Given the description of an element on the screen output the (x, y) to click on. 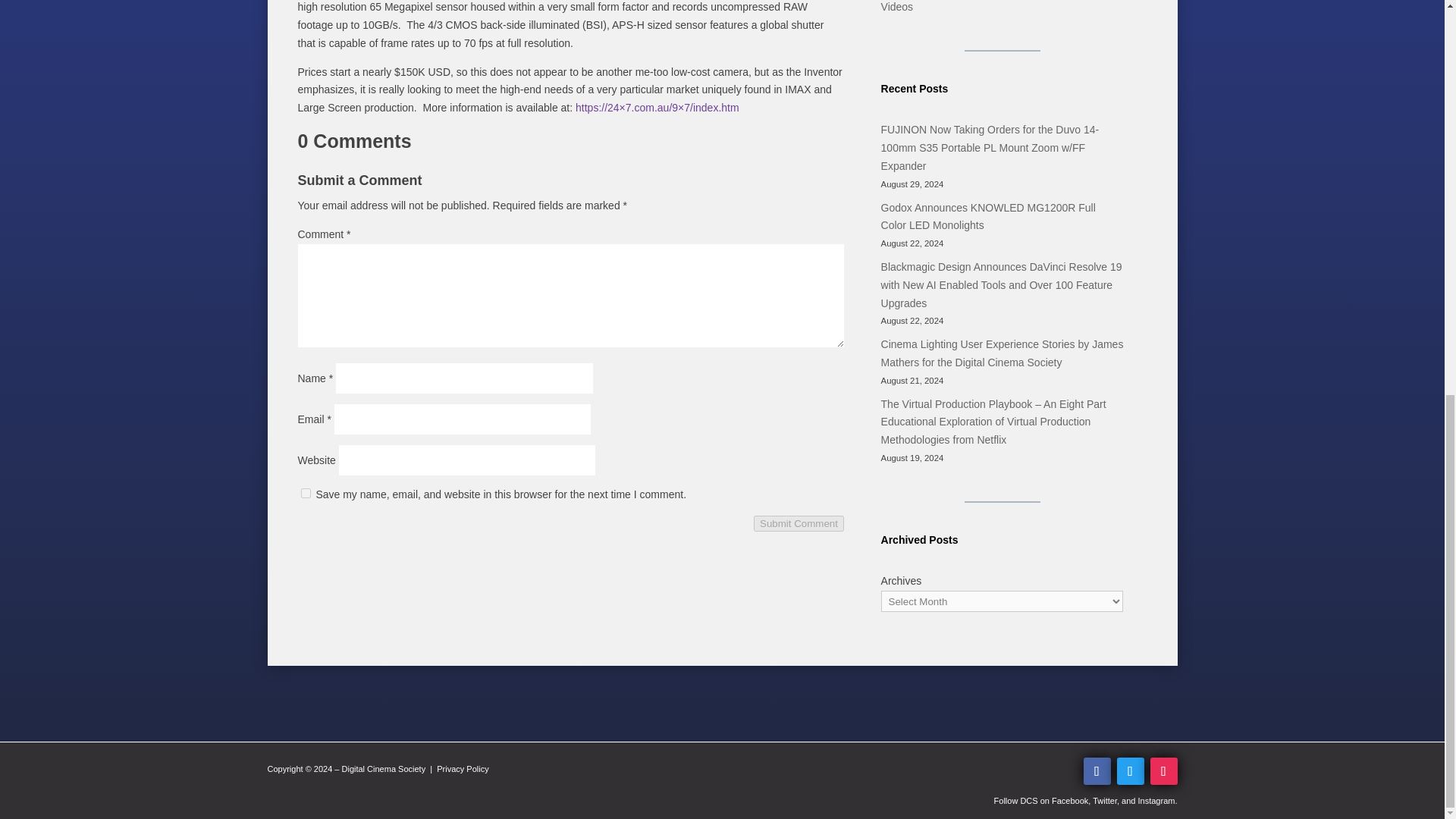
Follow on X (1129, 770)
Submit Comment (799, 523)
Follow on Instagram (1163, 770)
Follow on Facebook (1096, 770)
yes (304, 492)
